Given the description of an element on the screen output the (x, y) to click on. 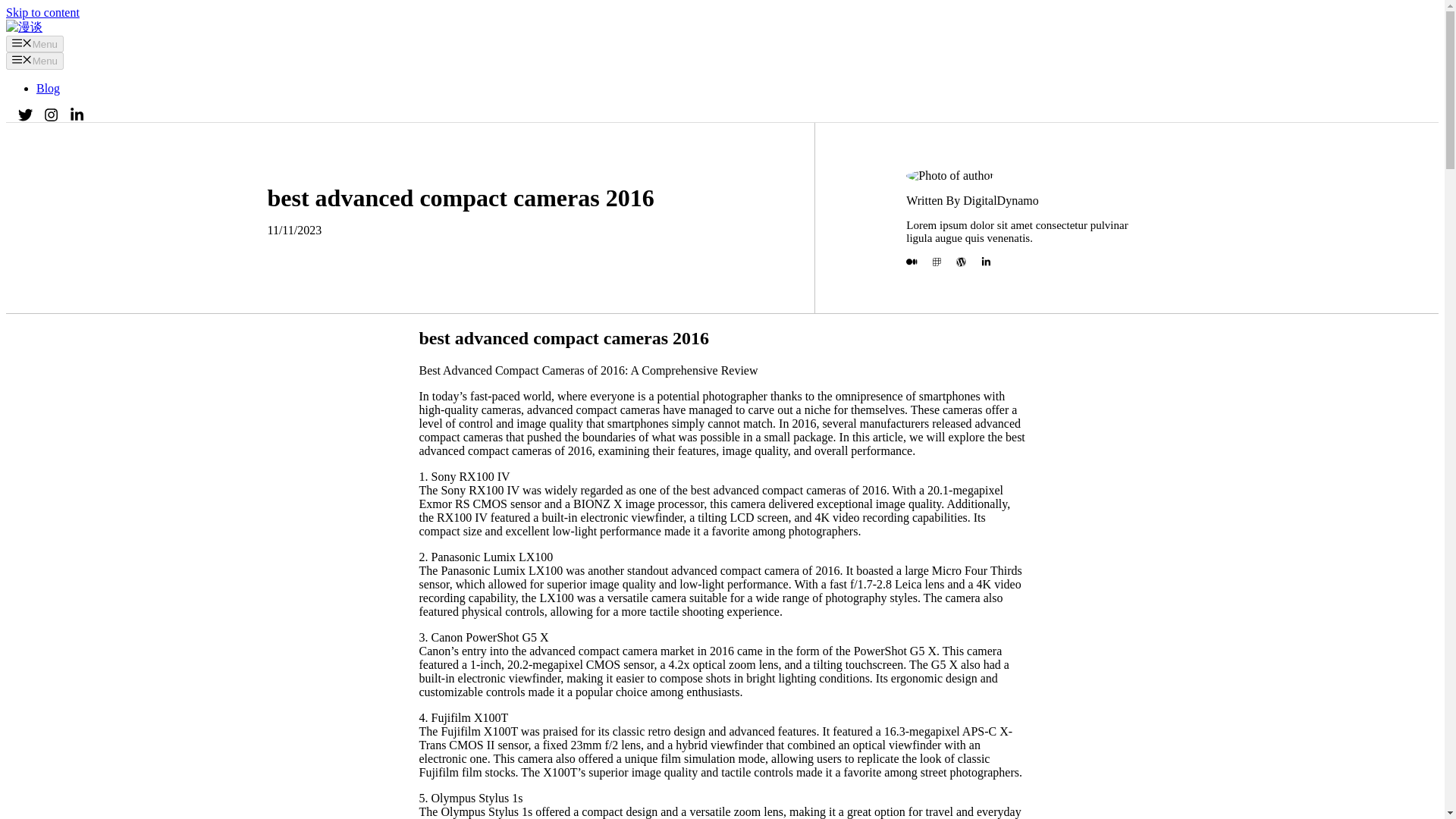
Skip to content (42, 11)
Blog (47, 88)
Menu (34, 60)
Skip to content (42, 11)
Menu (34, 44)
